Given the description of an element on the screen output the (x, y) to click on. 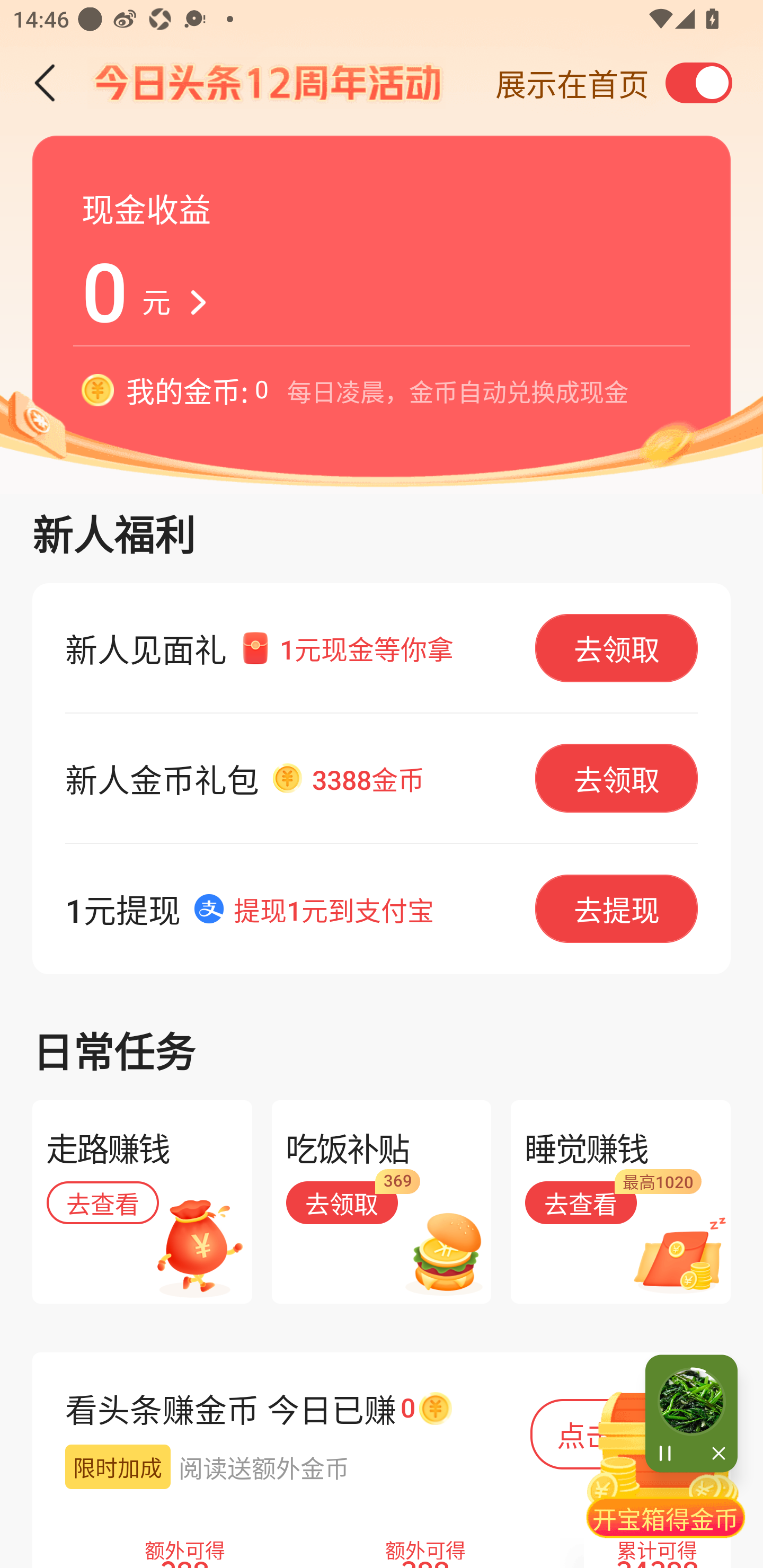
当前进度 6% 暂停 关闭 (691, 1413)
暂停 (668, 1454)
关闭 (714, 1454)
